Given the description of an element on the screen output the (x, y) to click on. 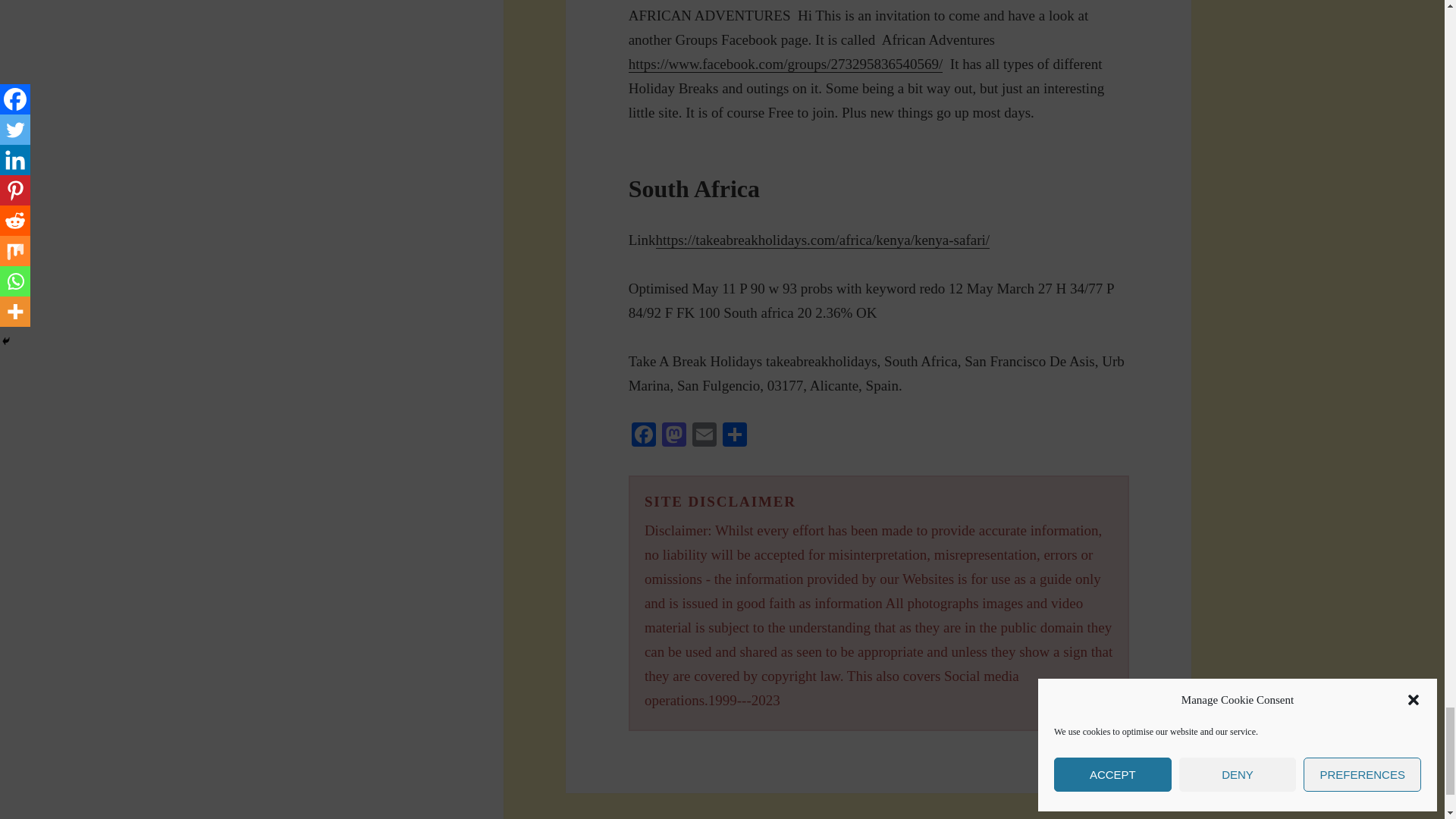
Email (703, 436)
Facebook (643, 436)
Mastodon (673, 436)
